Given the description of an element on the screen output the (x, y) to click on. 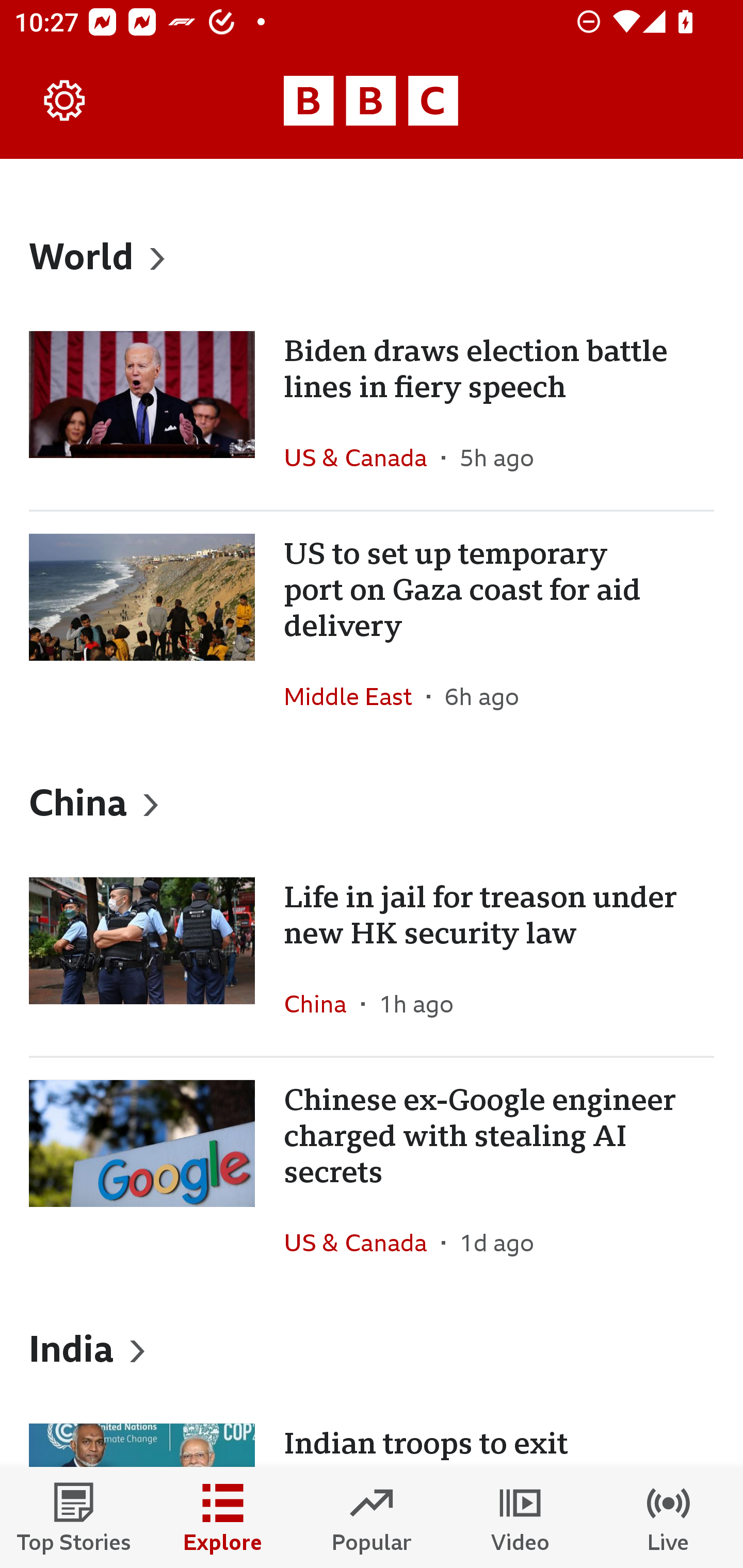
Settings (64, 100)
World, Heading World    (371, 255)
US & Canada In the section US & Canada (362, 457)
Middle East In the section Middle East (354, 695)
China, Heading China    (371, 800)
China In the section China (322, 1003)
US & Canada In the section US & Canada (362, 1242)
India, Heading India    (371, 1348)
Top Stories (74, 1517)
Popular (371, 1517)
Video (519, 1517)
Live (668, 1517)
